Given the description of an element on the screen output the (x, y) to click on. 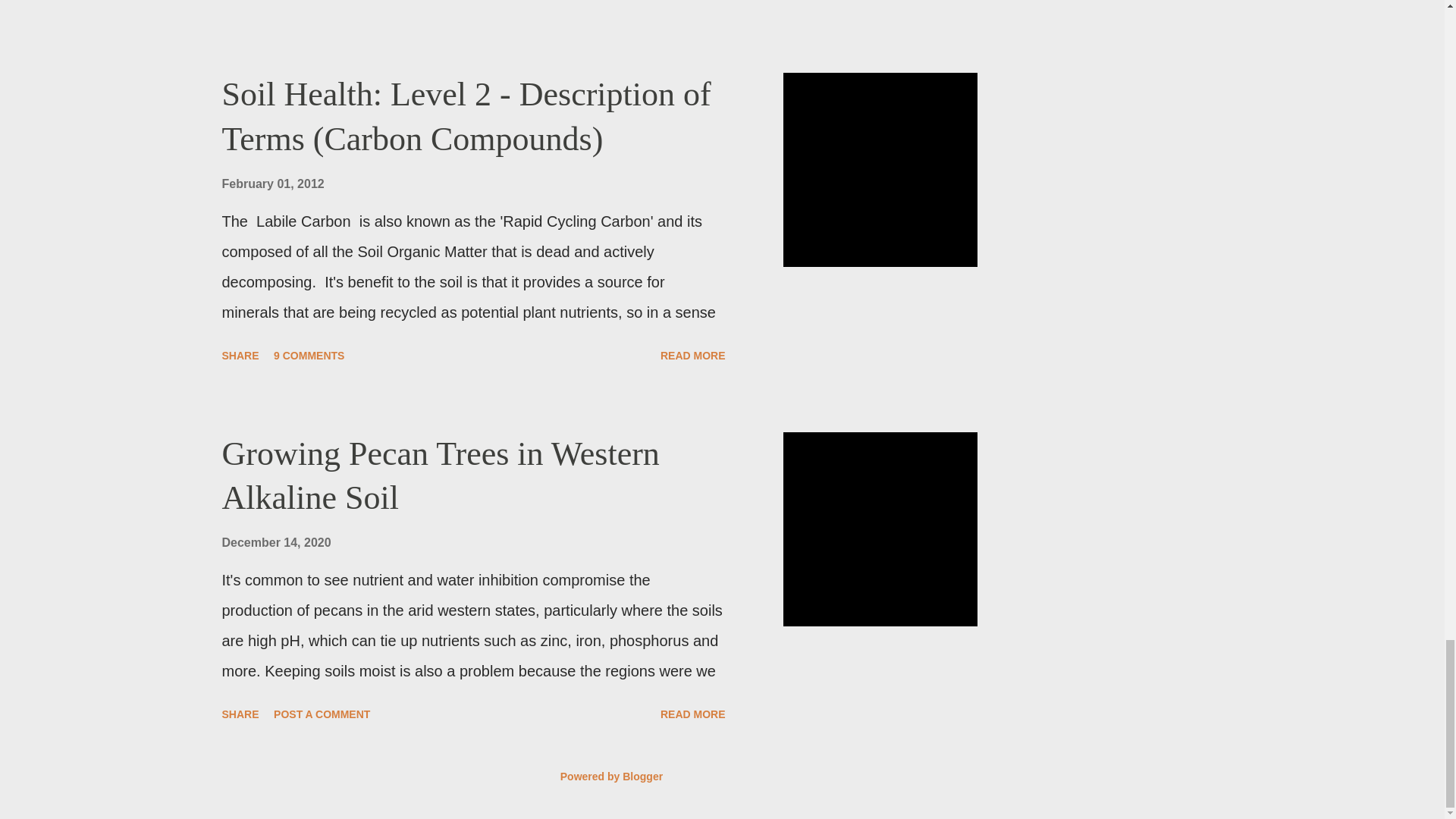
Growing Pecan Trees in Western Alkaline Soil (440, 475)
READ MORE (692, 355)
9 COMMENTS (308, 4)
READ MORE (692, 4)
SHARE (239, 4)
February 01, 2012 (272, 183)
December 14, 2020 (275, 542)
SHARE (239, 355)
9 COMMENTS (308, 355)
SHARE (239, 713)
